Given the description of an element on the screen output the (x, y) to click on. 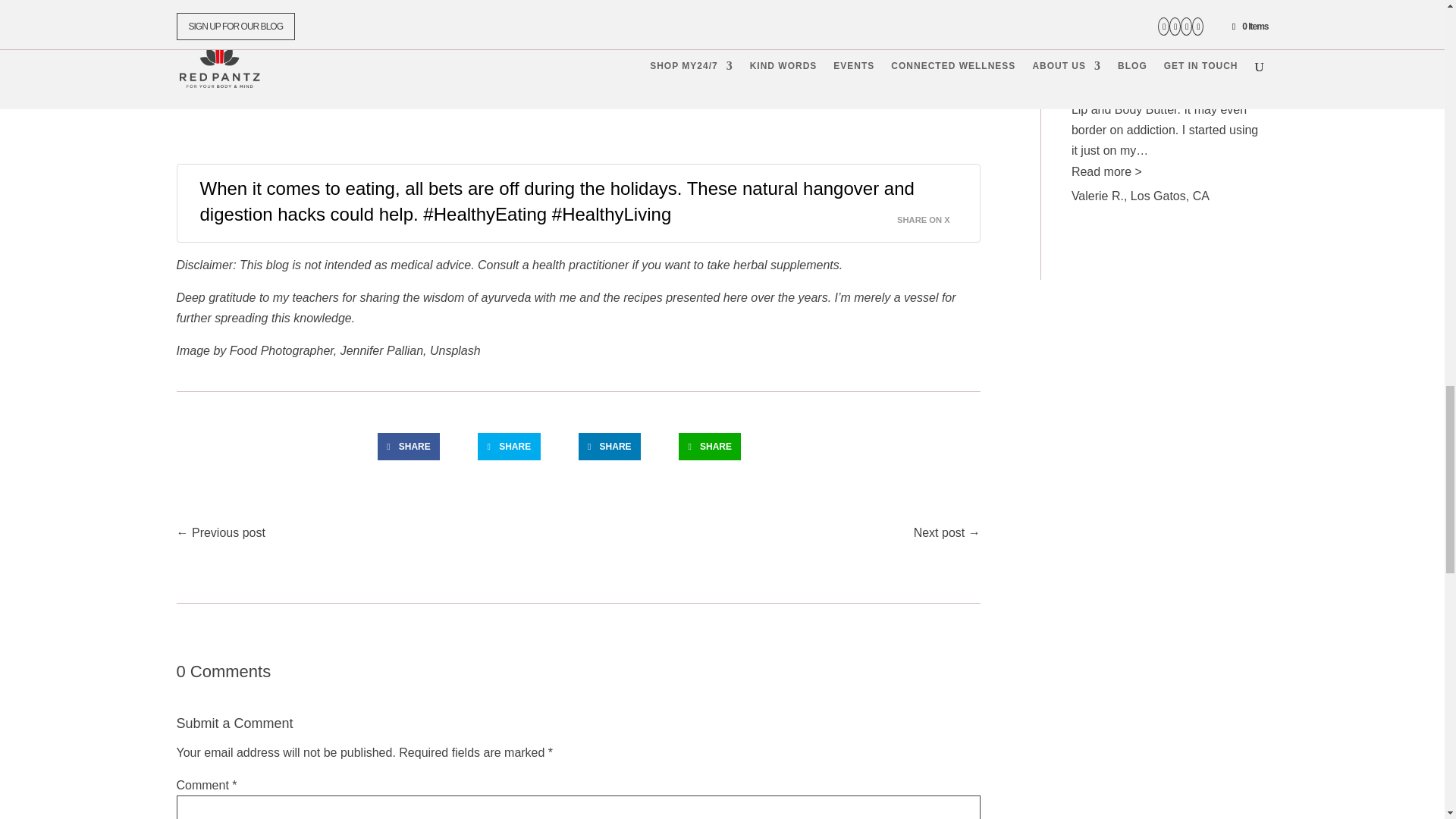
SHARE ON X (932, 215)
SHARE (609, 446)
SHARE (709, 446)
8 health benefits of cinnamon (266, 62)
SHARE (408, 446)
SHARE (508, 446)
online store (478, 42)
Triphala: 3 little-known fruits for better health (306, 82)
